Given the description of an element on the screen output the (x, y) to click on. 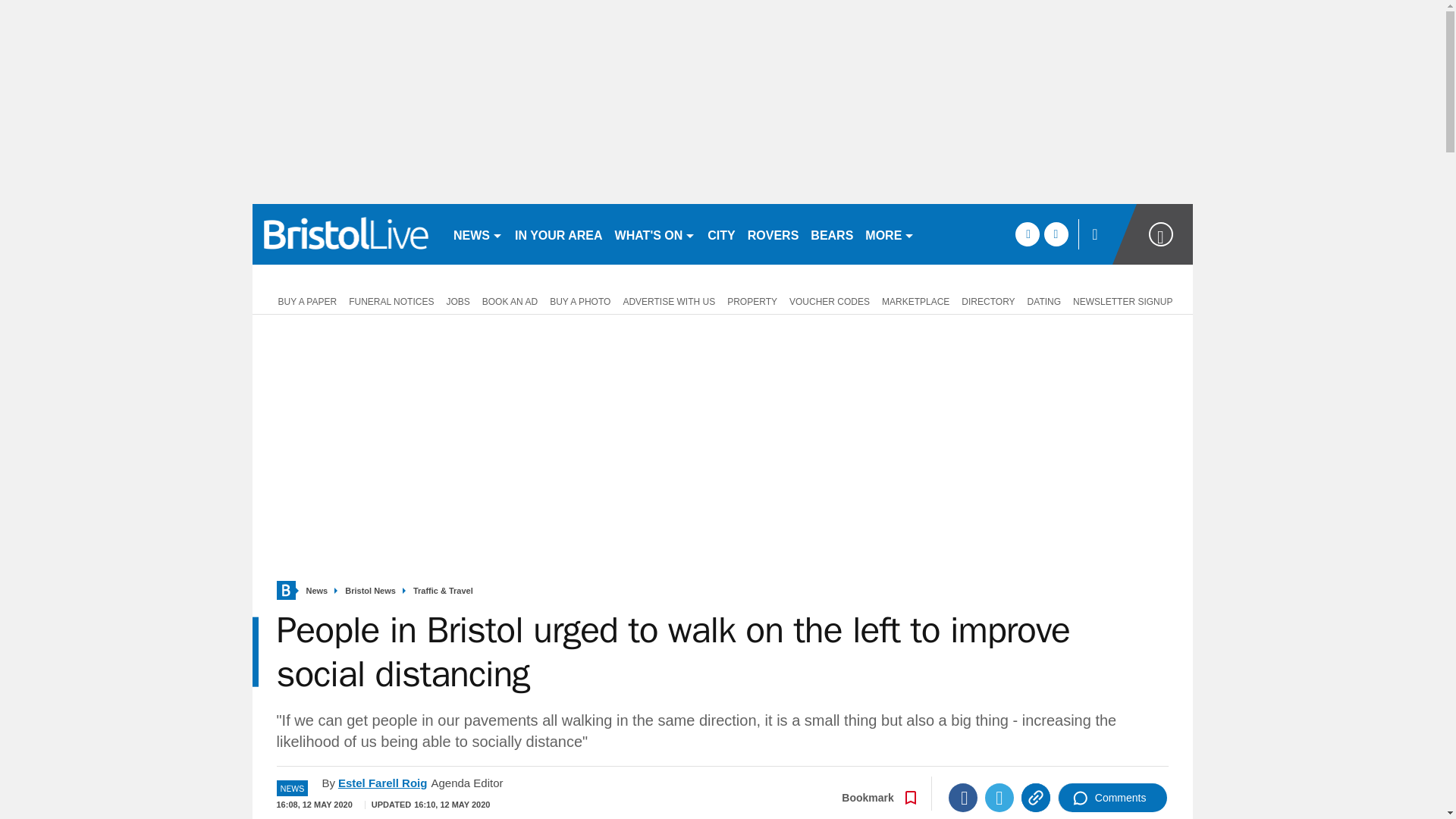
Comments (1112, 797)
Facebook (962, 797)
bristolpost (345, 233)
BEARS (832, 233)
WHAT'S ON (654, 233)
ROVERS (773, 233)
Twitter (999, 797)
facebook (1026, 233)
twitter (1055, 233)
MORE (889, 233)
IN YOUR AREA (558, 233)
NEWS (477, 233)
